Given the description of an element on the screen output the (x, y) to click on. 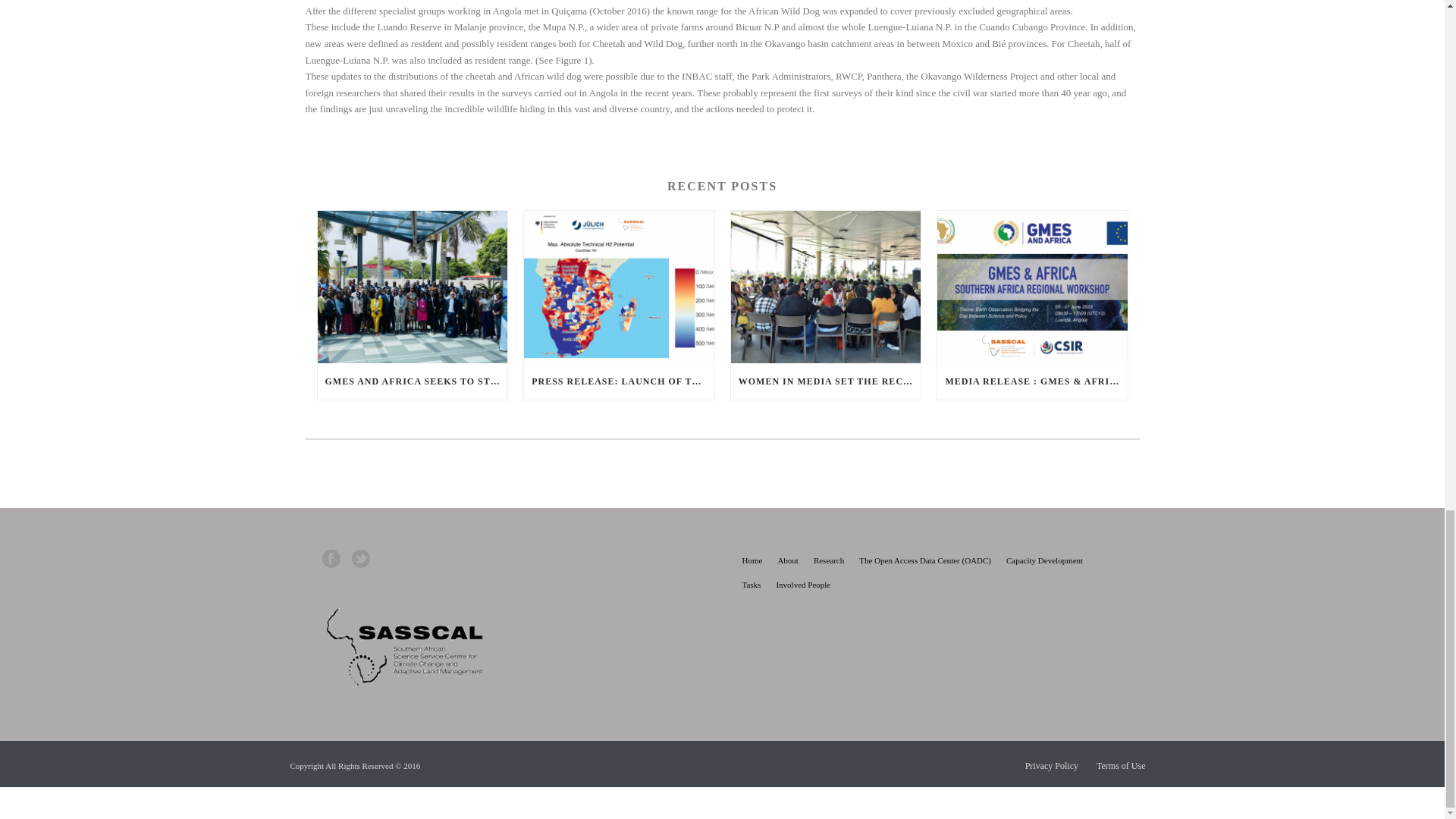
Press Release: Launch of the H2ATLAS Southern Africa (619, 286)
